Given the description of an element on the screen output the (x, y) to click on. 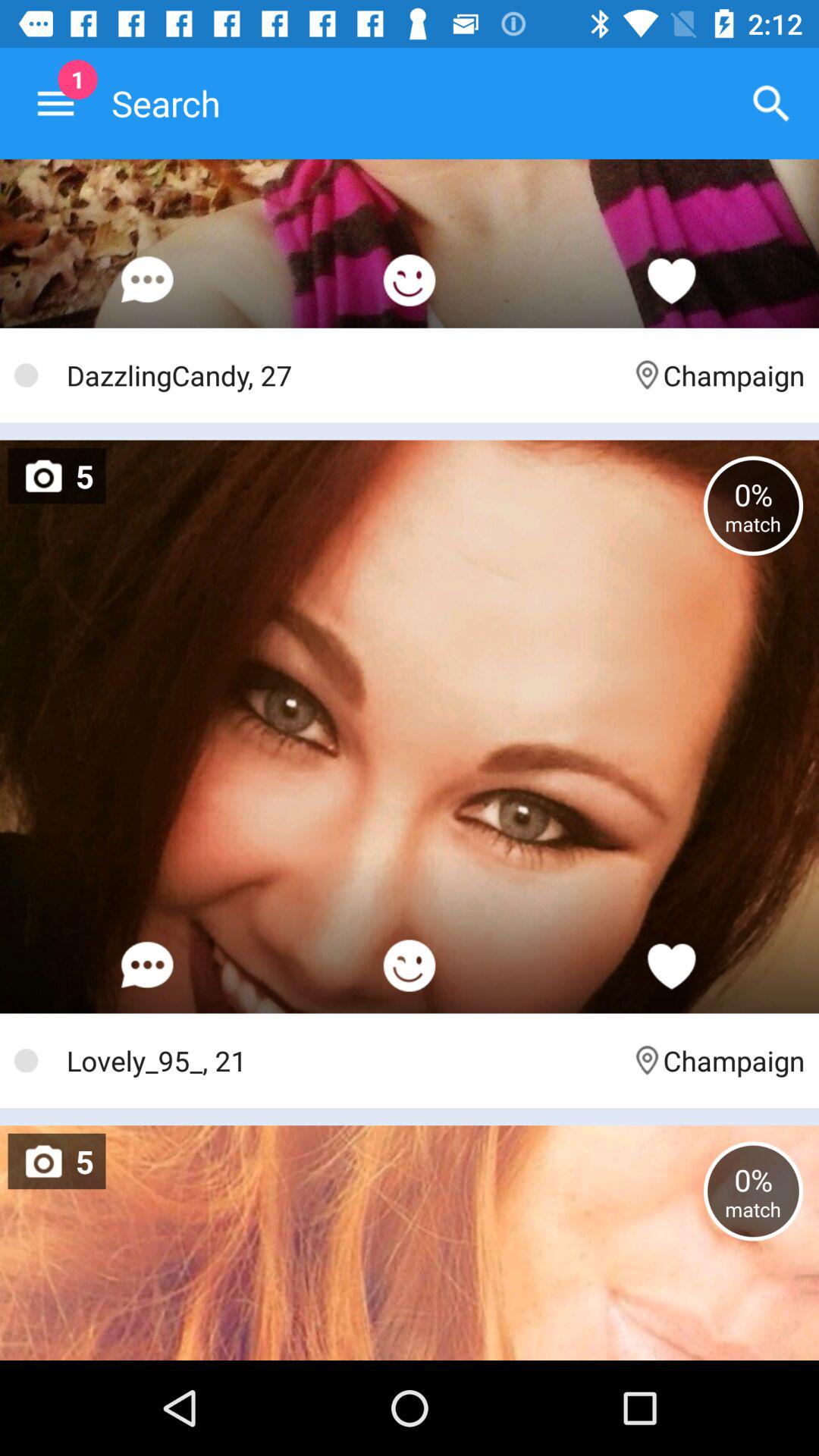
tap icon to the right of search icon (771, 103)
